Given the description of an element on the screen output the (x, y) to click on. 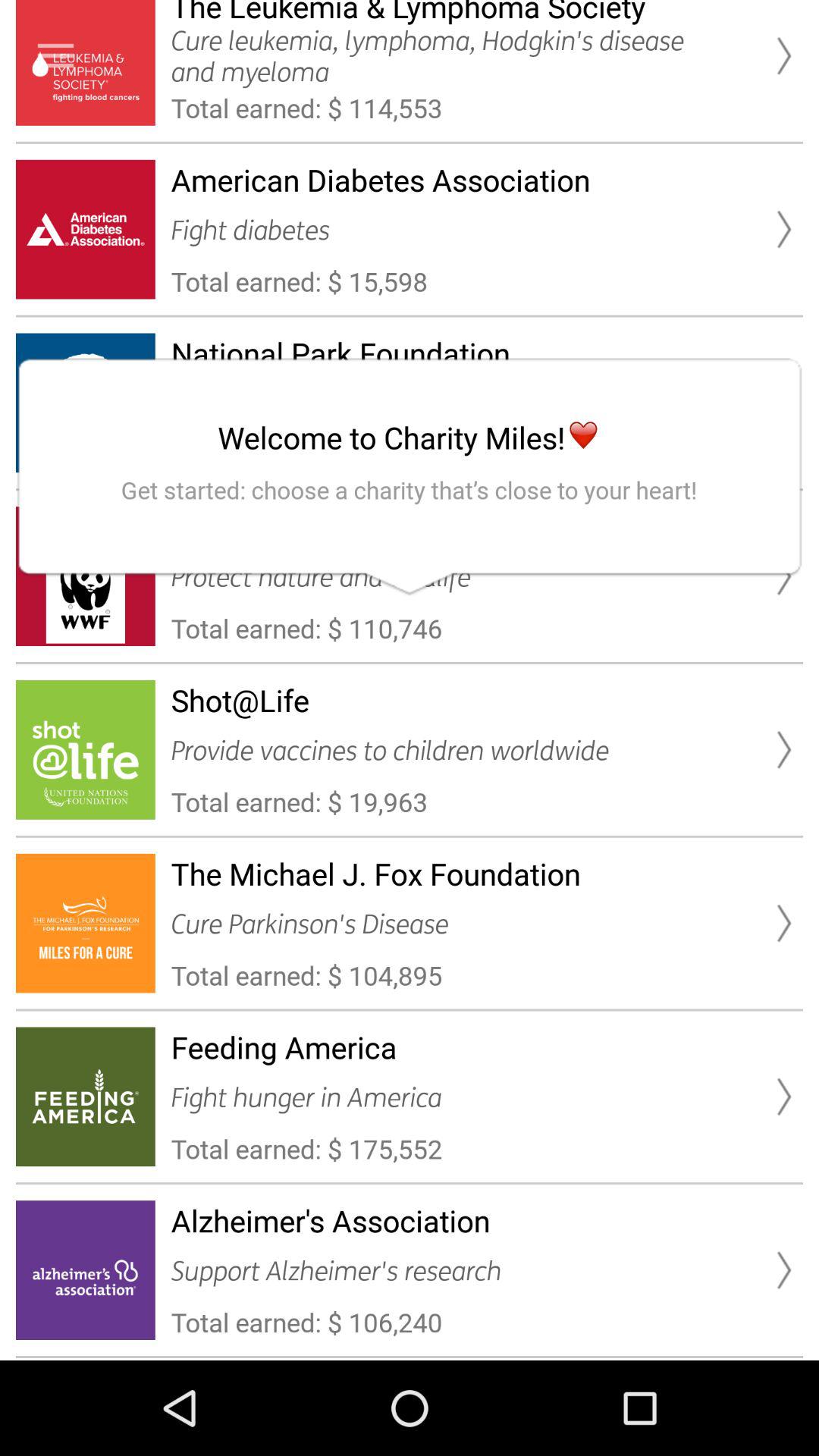
click the 3rd button from the bottom right side of the web page (783, 922)
click on the image left to feeding america (85, 1096)
